Given the description of an element on the screen output the (x, y) to click on. 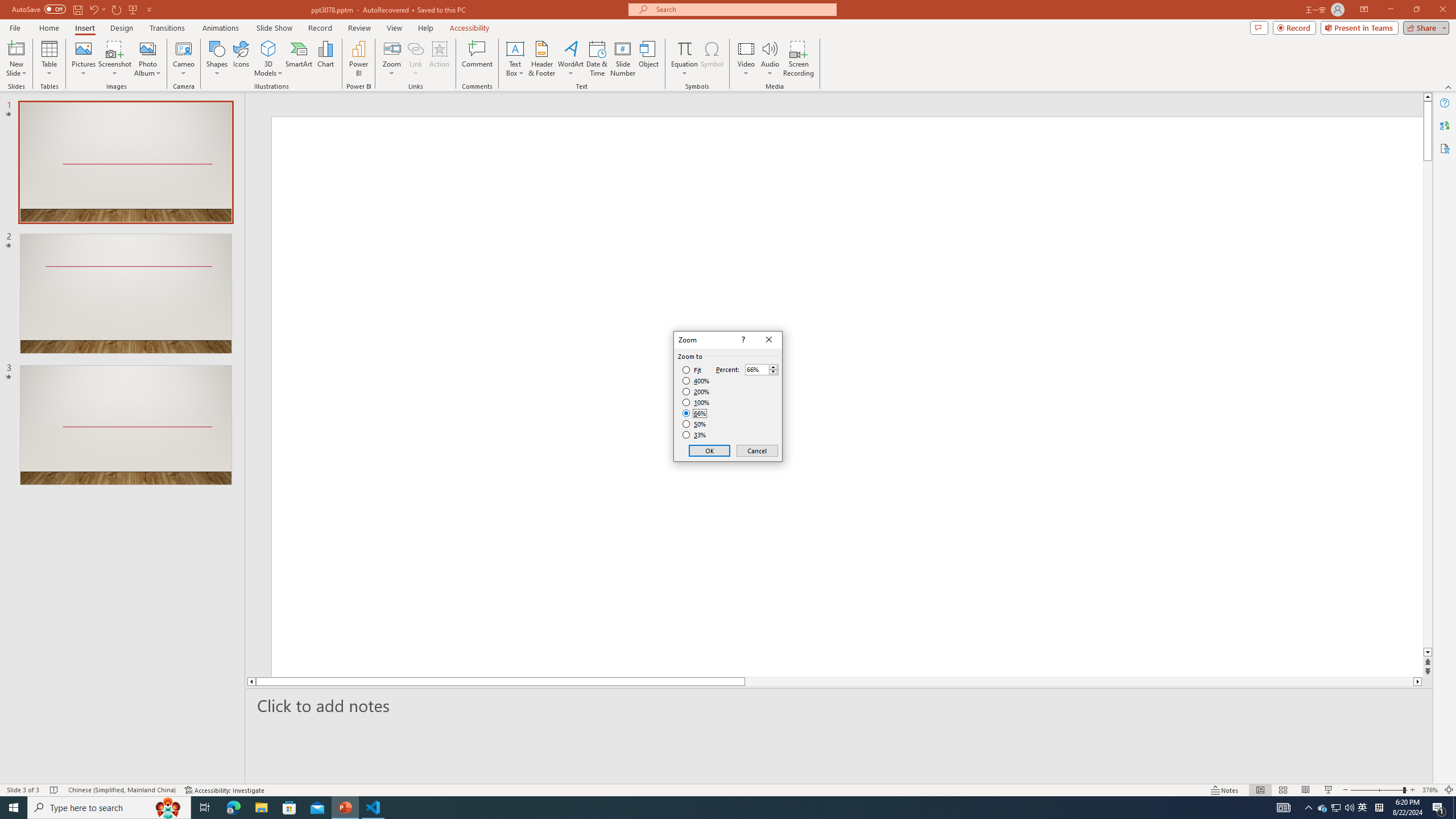
50% (694, 424)
Chart... (325, 58)
Equation (683, 58)
File Explorer (261, 807)
Comment (476, 58)
Type here to search (108, 807)
Screenshot (114, 58)
